Given the description of an element on the screen output the (x, y) to click on. 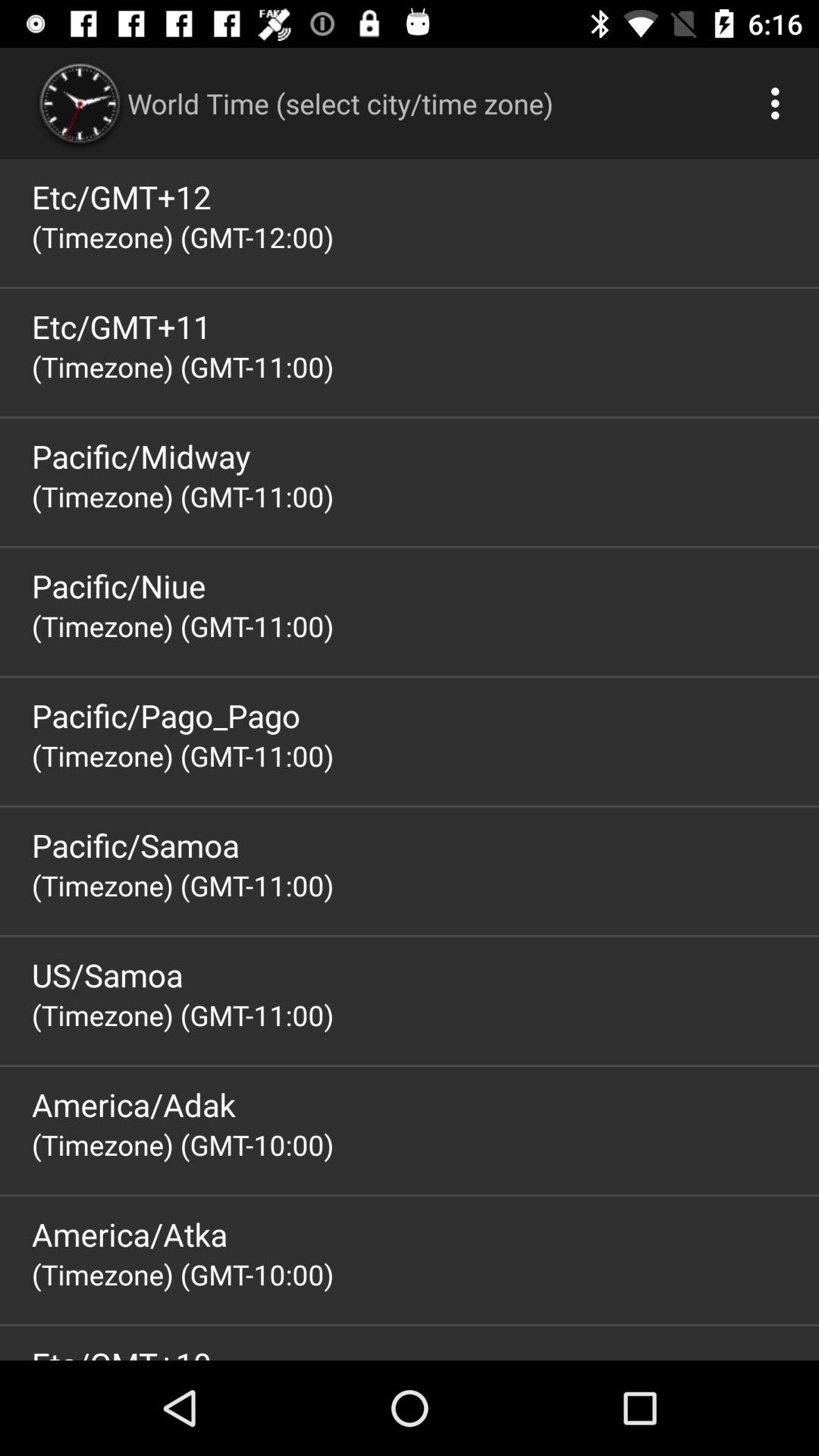
tap the item at the top right corner (779, 103)
